Given the description of an element on the screen output the (x, y) to click on. 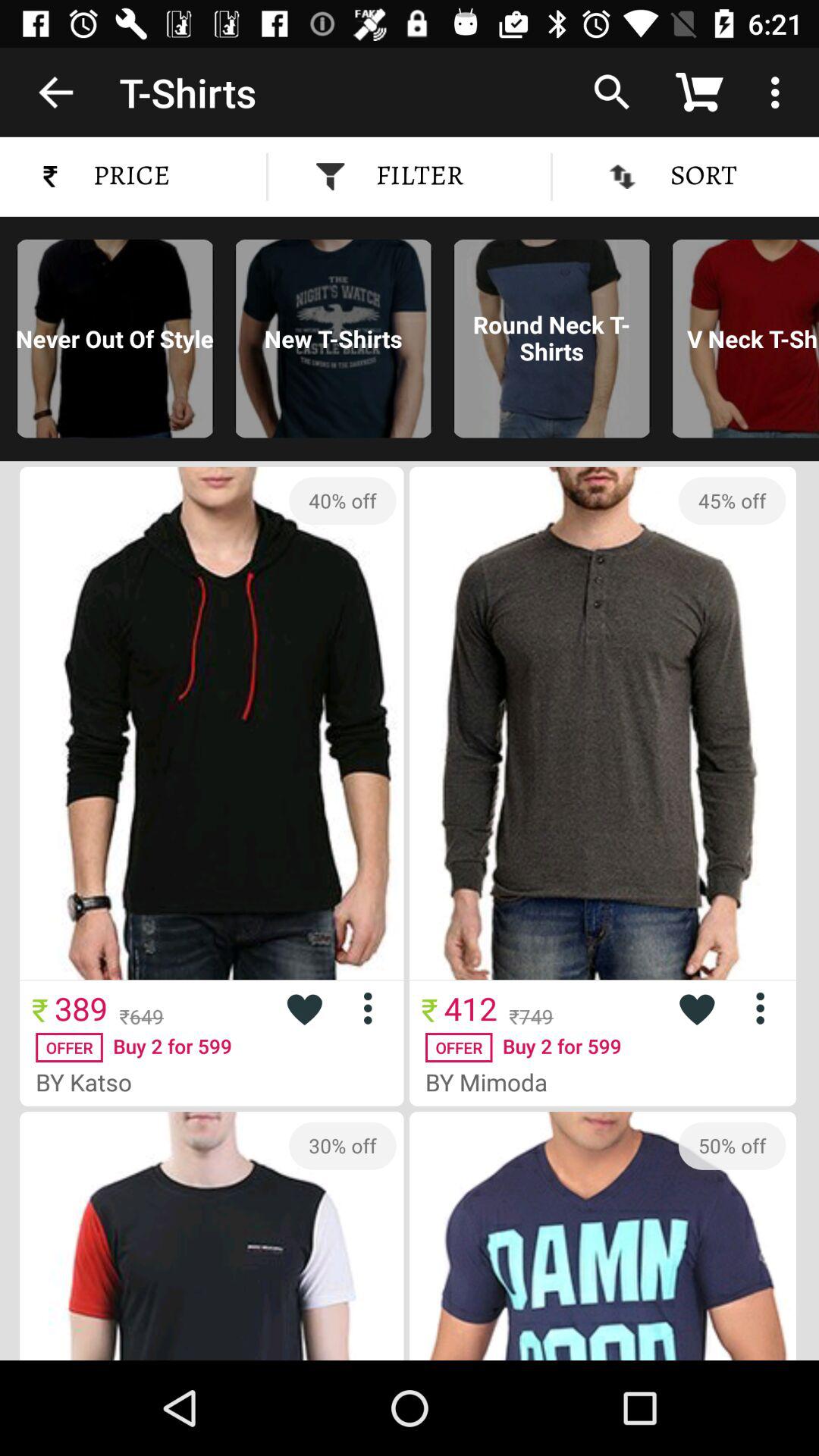
swipe until by mimoda icon (492, 1081)
